Given the description of an element on the screen output the (x, y) to click on. 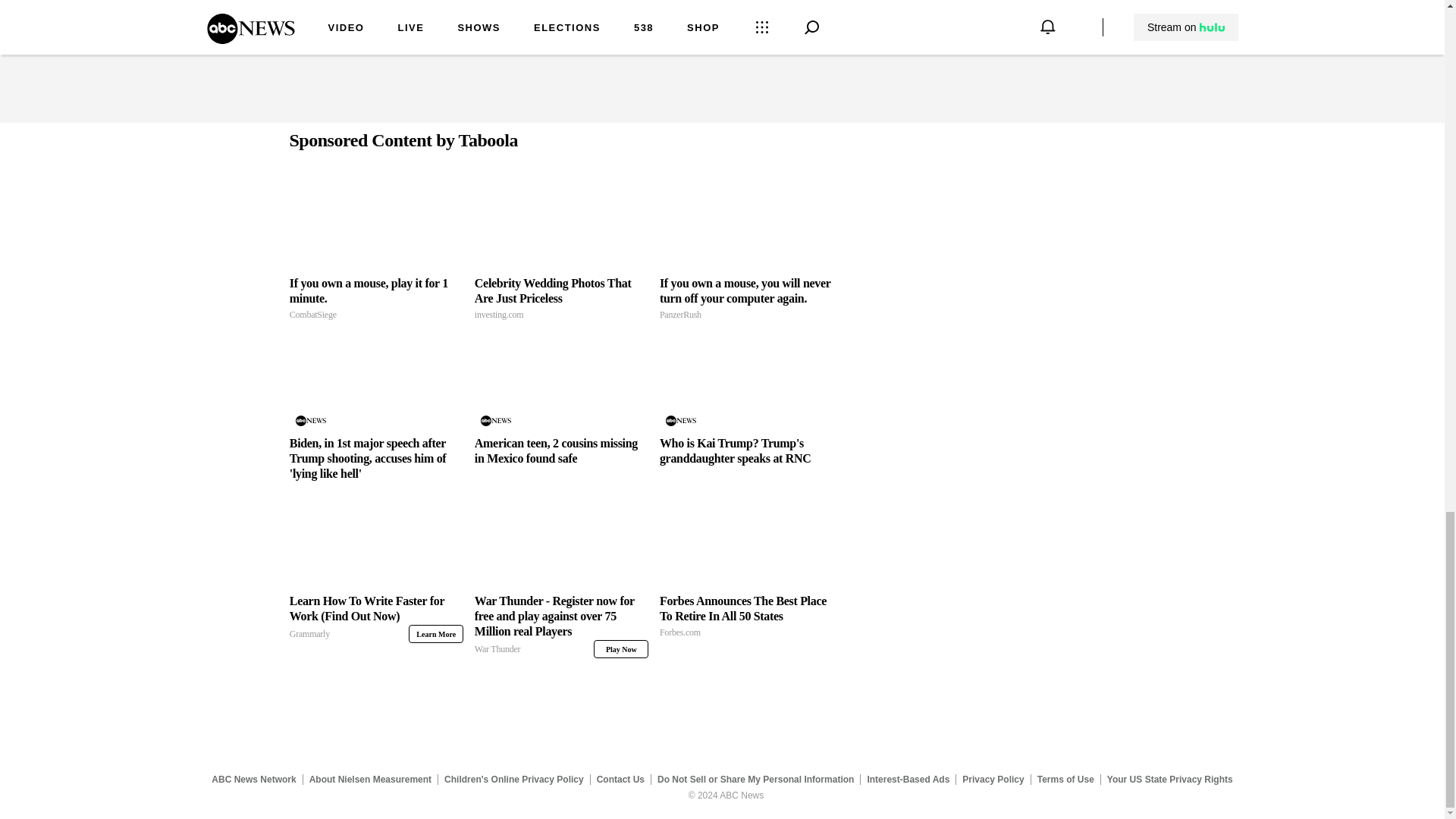
If you own a mouse, play it for 1 minute. (376, 222)
Forbes Announces The Best Place To Retire In All 50 States (745, 616)
American teen, 2 cousins missing in Mexico found safe (560, 383)
American teen, 2 cousins missing in Mexico found safe (560, 450)
Play Now (620, 648)
Who is Kai Trump? Trump's granddaughter speaks at RNC (745, 450)
Learn More (376, 299)
Celebrity Wedding Photos That Are Just Priceless (436, 633)
